Given the description of an element on the screen output the (x, y) to click on. 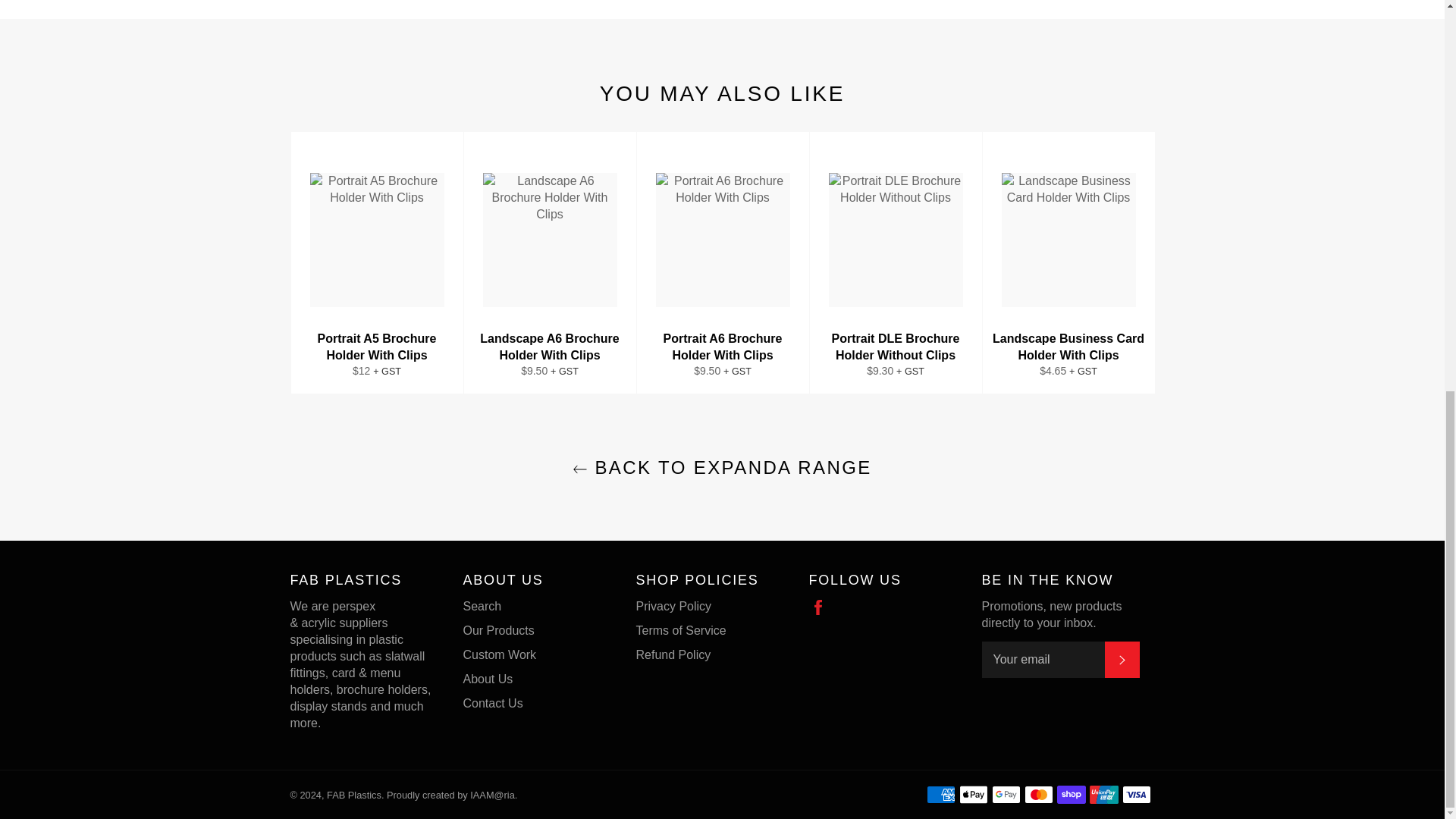
FAB Plastics on Facebook (821, 607)
